Given the description of an element on the screen output the (x, y) to click on. 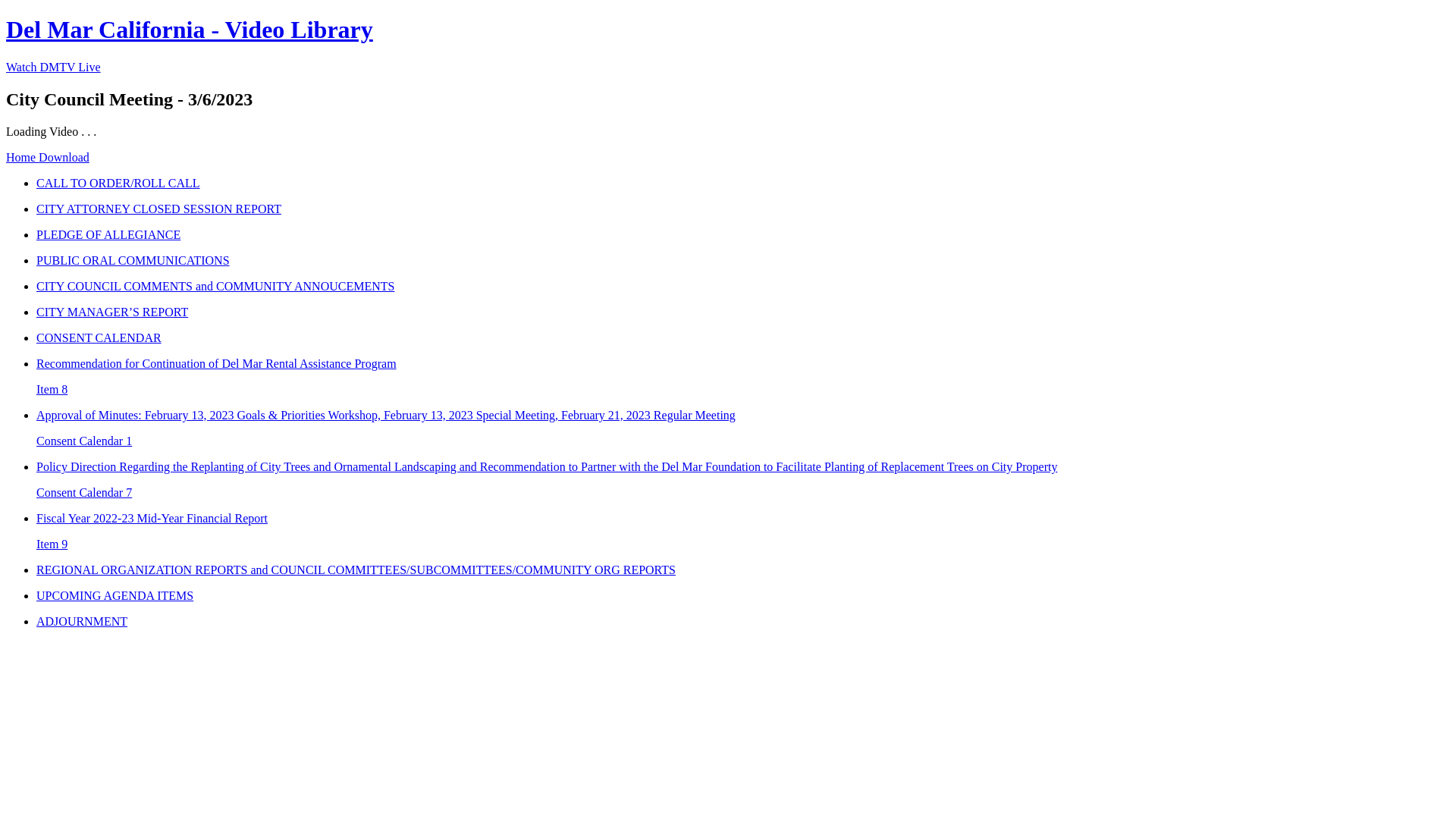
PLEDGE OF ALLEGIANCE Element type: text (742, 234)
CALL TO ORDER/ROLL CALL Element type: text (742, 183)
CITY COUNCIL COMMENTS and COMMUNITY ANNOUCEMENTS Element type: text (742, 286)
CITY ATTORNEY CLOSED SESSION REPORT Element type: text (742, 209)
Download Element type: text (63, 156)
ADJOURNMENT Element type: text (742, 621)
Home Element type: text (22, 156)
Watch DMTV Live Element type: text (53, 66)
Fiscal Year 2022-23 Mid-Year Financial Report
Item 9 Element type: text (742, 531)
CONSENT CALENDAR Element type: text (742, 338)
Del Mar California - Video Library Element type: text (189, 29)
UPCOMING AGENDA ITEMS Element type: text (742, 595)
PUBLIC ORAL COMMUNICATIONS Element type: text (742, 260)
